Given the description of an element on the screen output the (x, y) to click on. 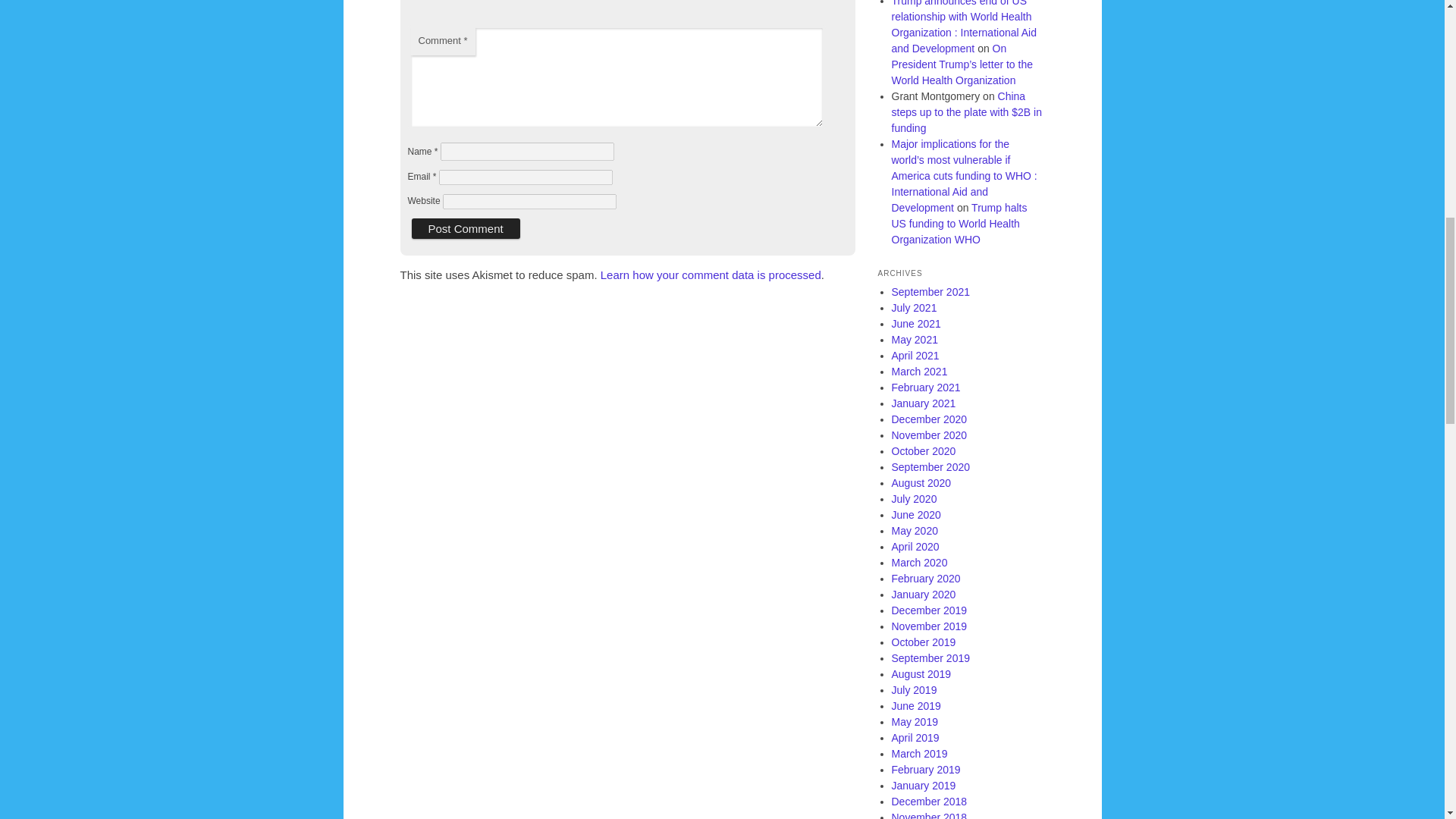
November 2020 (929, 435)
Learn how your comment data is processed (710, 274)
January 2021 (923, 403)
September 2021 (931, 291)
June 2021 (915, 323)
December 2020 (929, 419)
Post Comment (464, 228)
July 2021 (914, 307)
Trump halts US funding to World Health Organization WHO (959, 223)
March 2021 (919, 371)
